Given the description of an element on the screen output the (x, y) to click on. 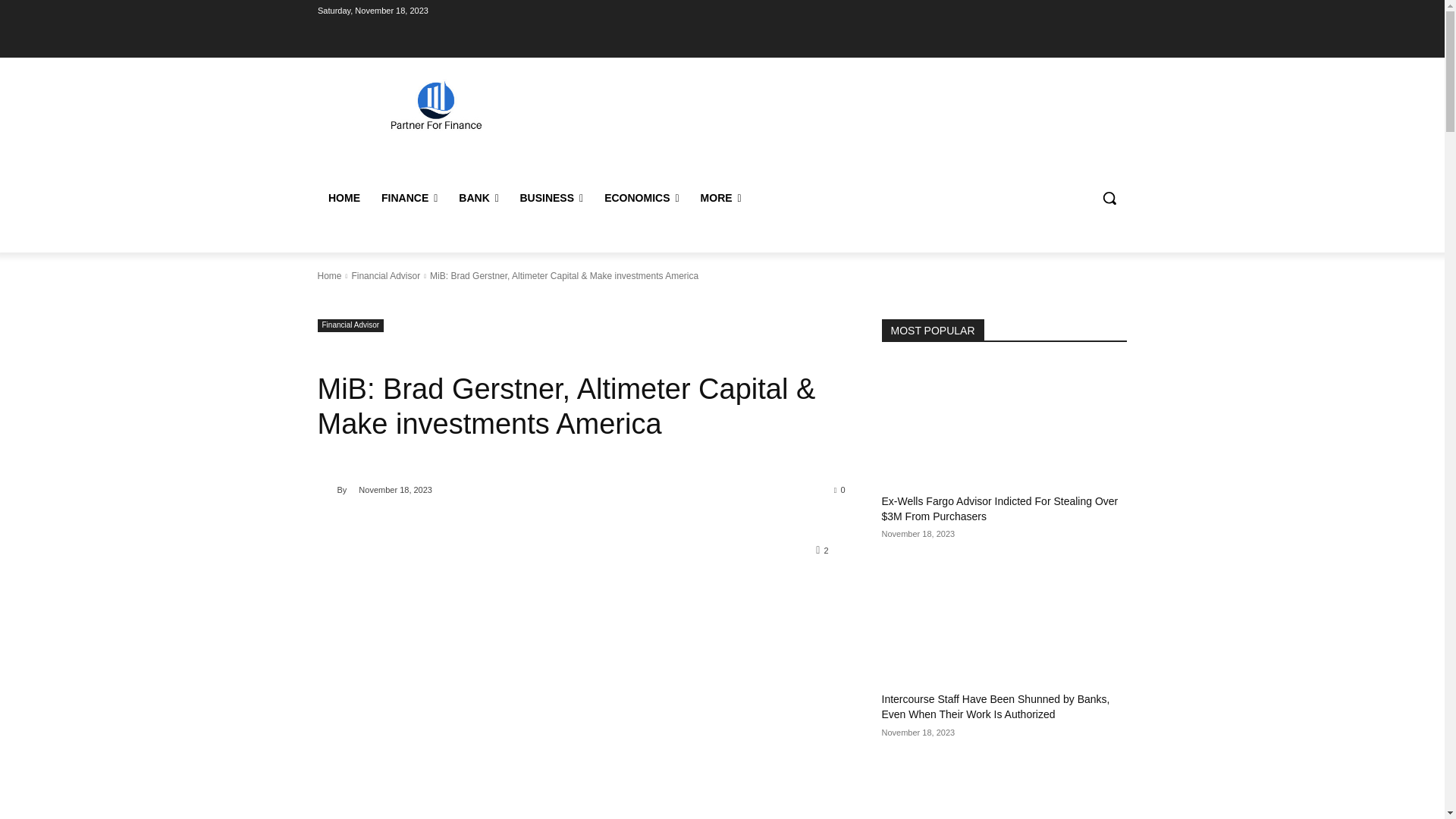
FINANCE (407, 197)
View all posts in Financial Advisor (385, 276)
BANK (478, 197)
HOME (343, 197)
